Given the description of an element on the screen output the (x, y) to click on. 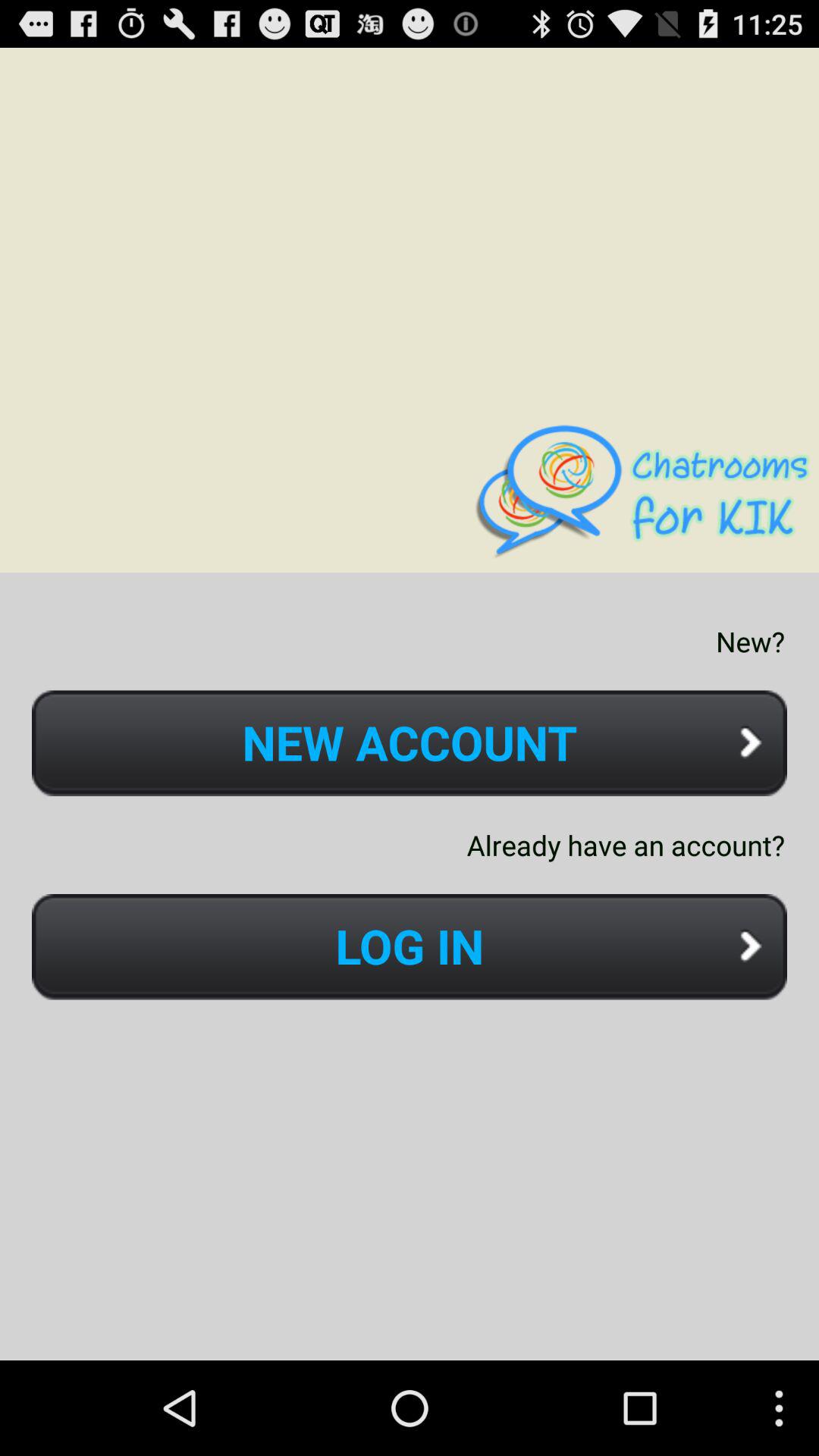
scroll until the new account item (409, 743)
